Given the description of an element on the screen output the (x, y) to click on. 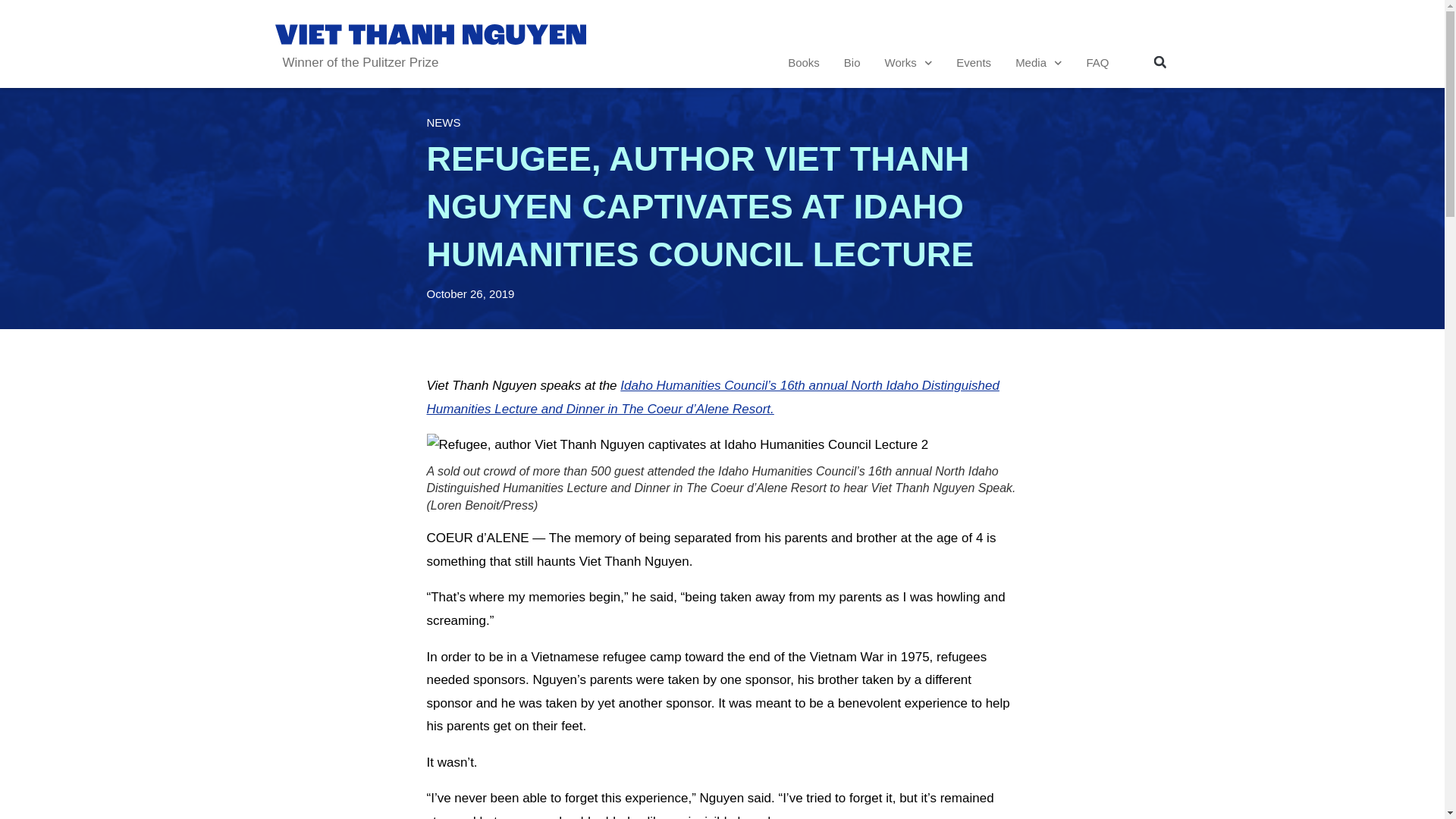
Works (909, 62)
Books (803, 62)
VTN-logo-blue (430, 34)
Bio (851, 62)
Events (972, 62)
FAQ (1097, 62)
Media (1037, 62)
